Given the description of an element on the screen output the (x, y) to click on. 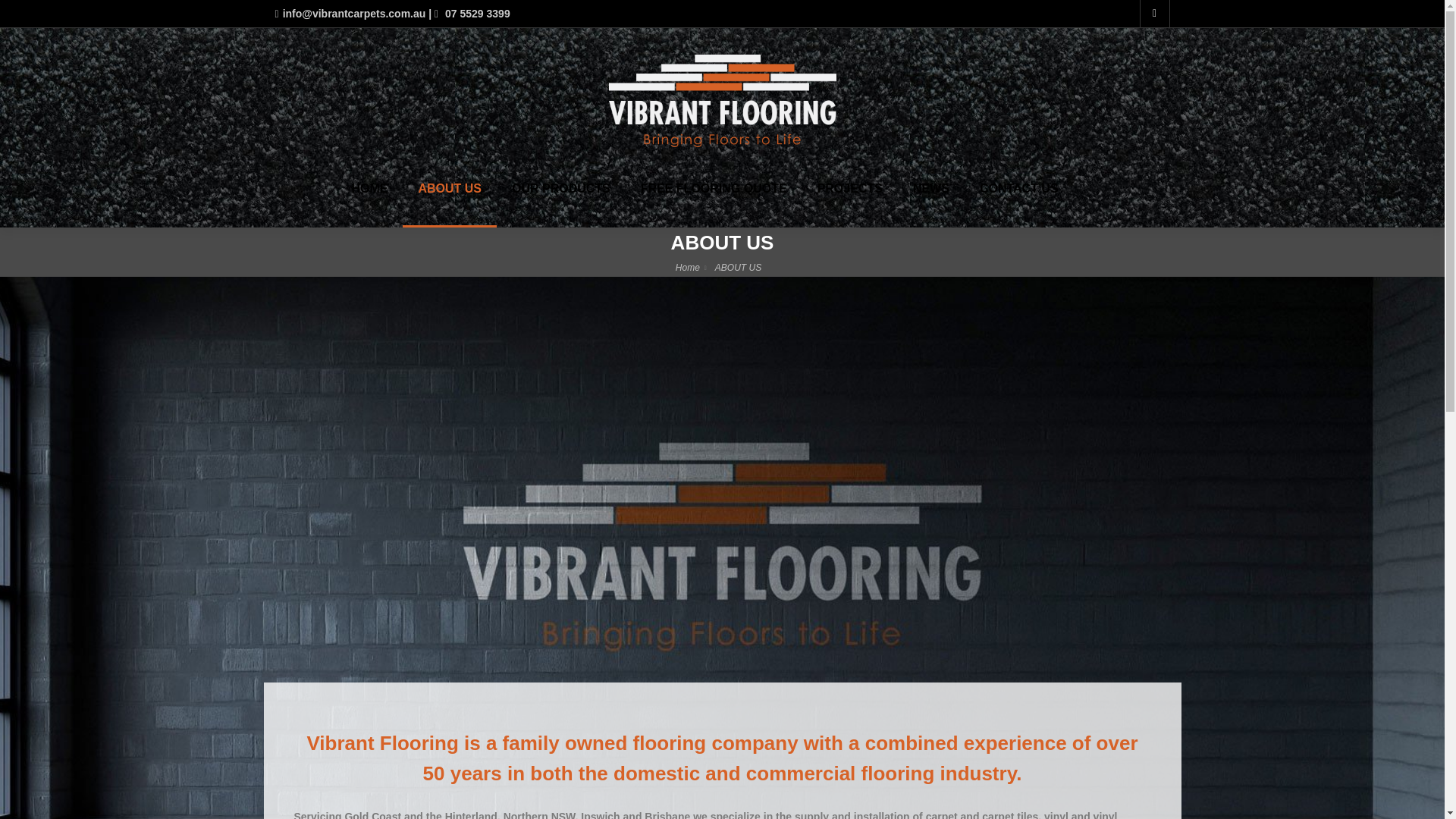
HOME (369, 203)
Homepage (687, 267)
CONTACT US (1018, 203)
Home (687, 267)
NEWS (930, 203)
PROJECTS (850, 203)
07 5529 3399 (472, 13)
FREE FLOORING QUOTE (714, 203)
OUR PRODUCTS (561, 203)
ABOUT US (449, 203)
